Given the description of an element on the screen output the (x, y) to click on. 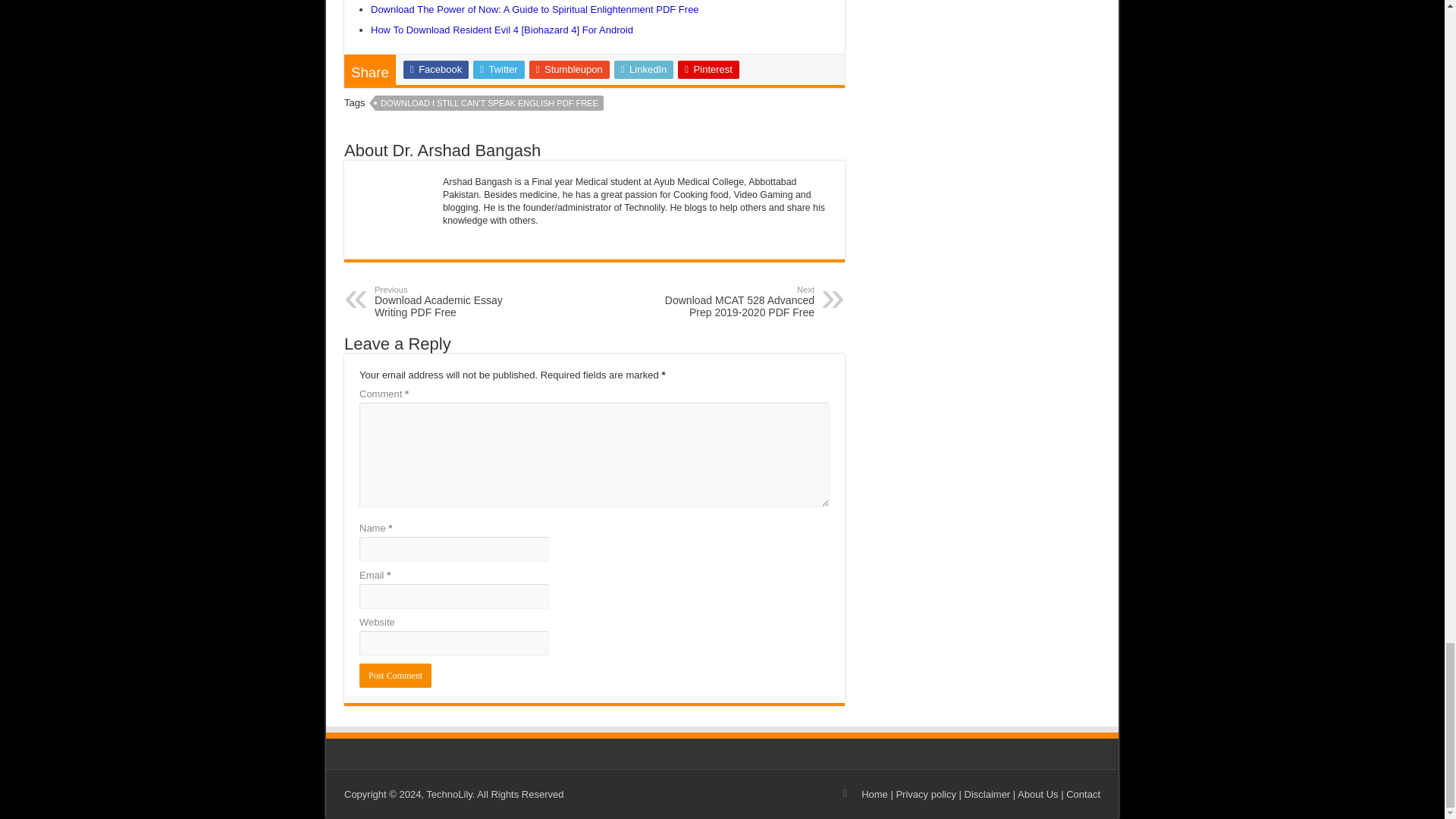
Post Comment (394, 675)
